Given the description of an element on the screen output the (x, y) to click on. 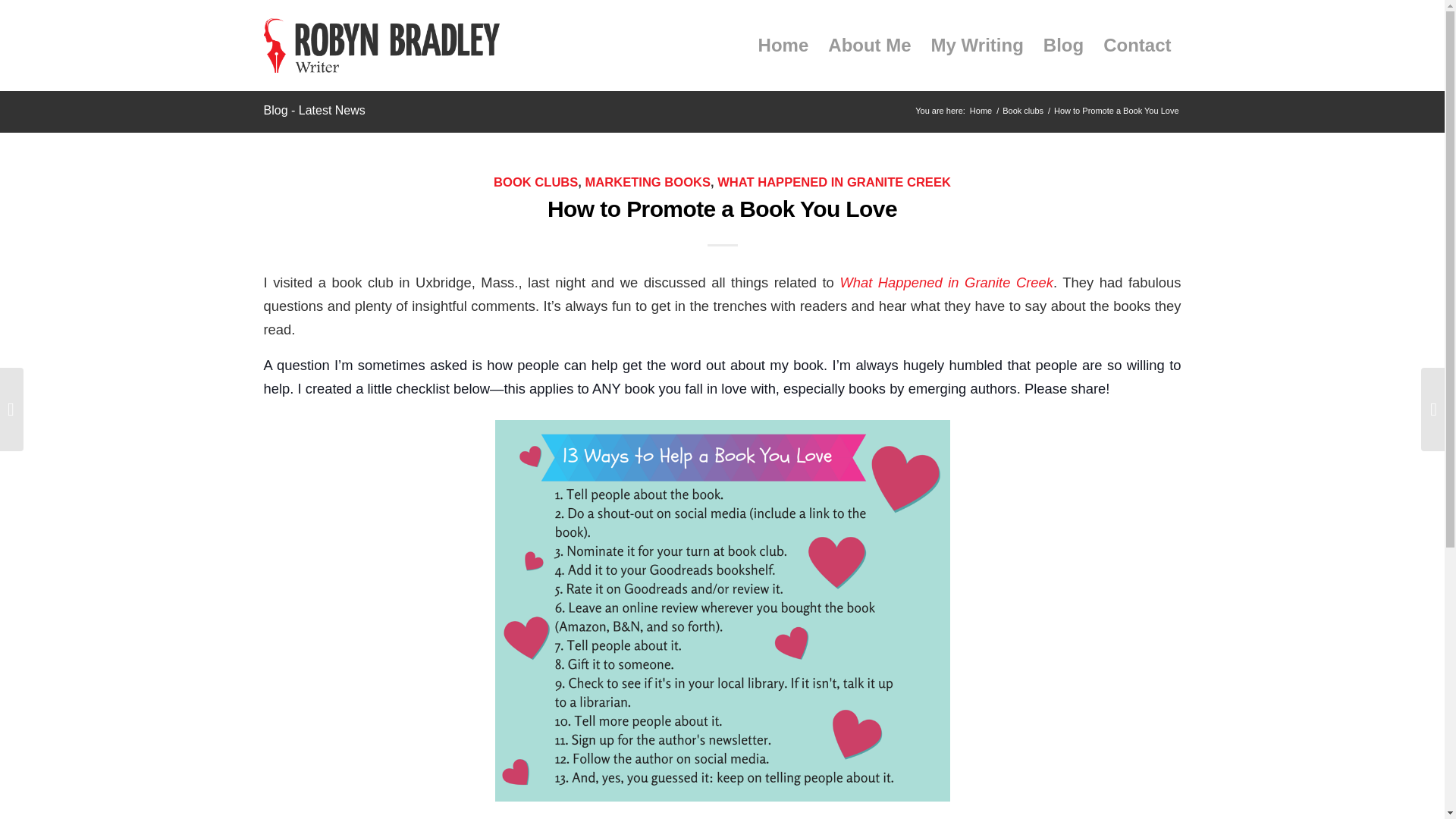
Book clubs (1022, 111)
WHAT HAPPENED IN GRANITE CREEK (833, 182)
Home (981, 111)
What Happened in Granite Creek (946, 282)
BOOK CLUBS (535, 182)
Robyn Bradley (981, 111)
Blog - Latest News (314, 110)
My Writing (977, 45)
Contact (1136, 45)
Robyn Bradley (381, 45)
